Given the description of an element on the screen output the (x, y) to click on. 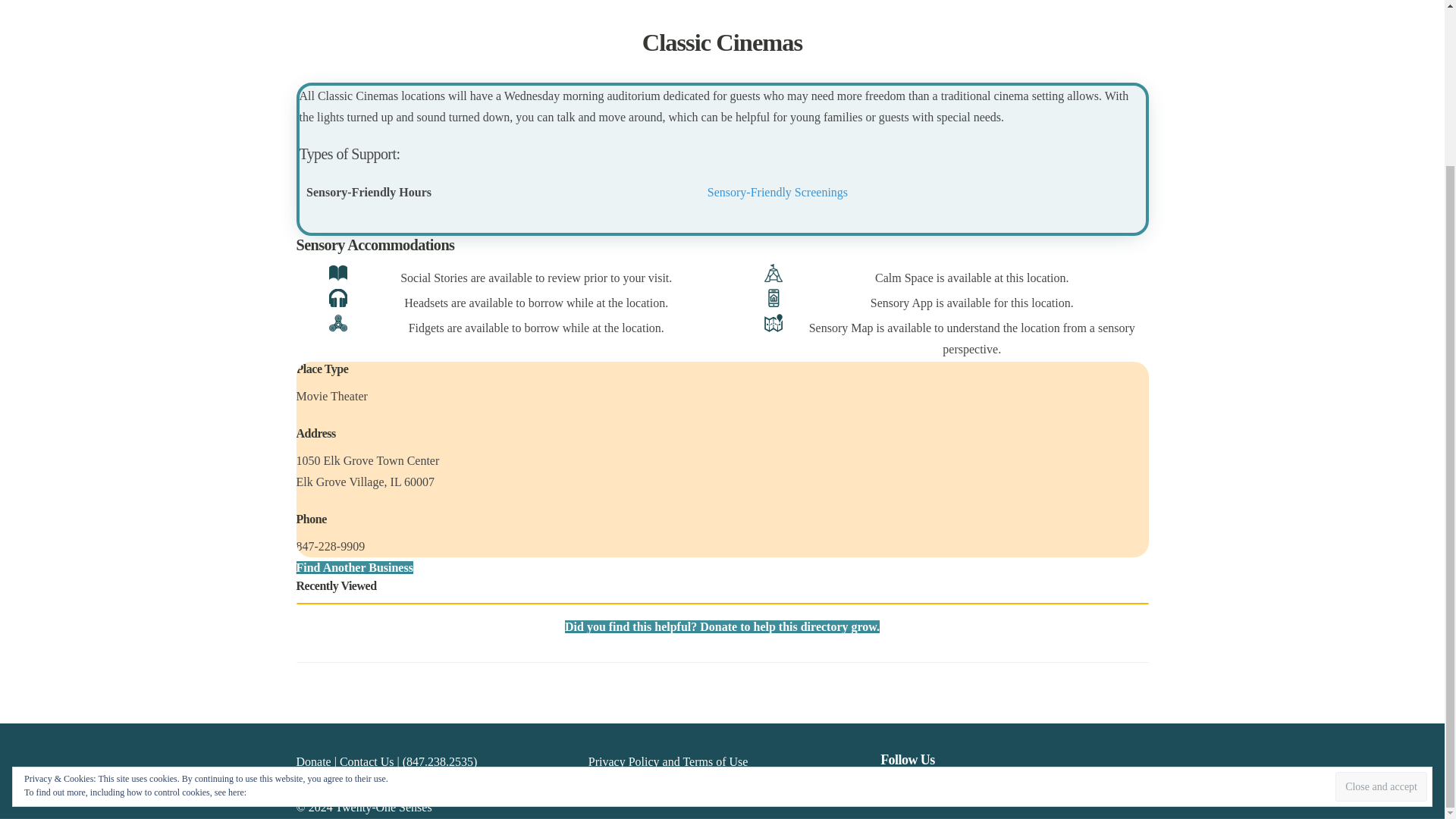
Close and accept (1380, 589)
